Given the description of an element on the screen output the (x, y) to click on. 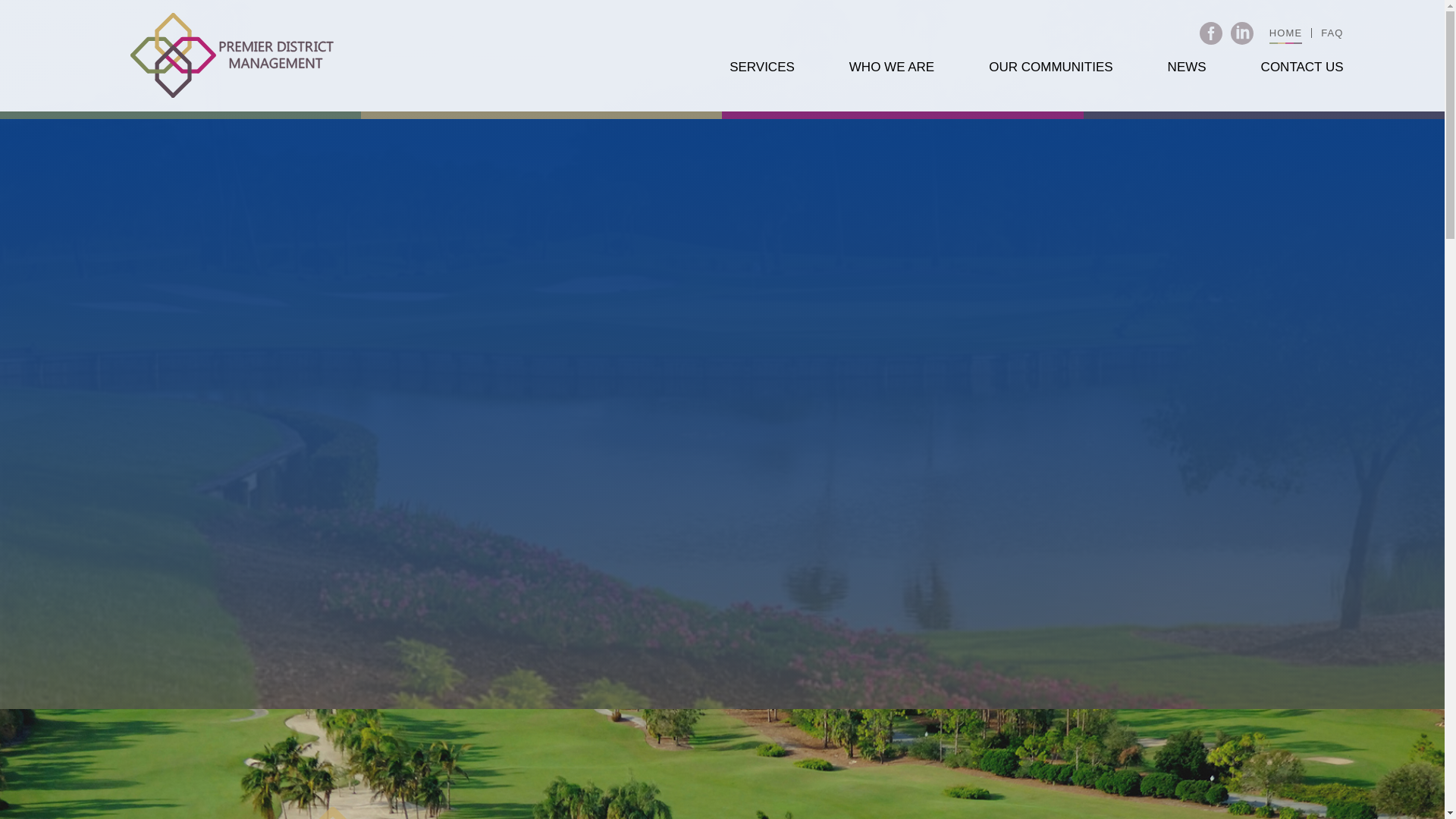
CONTACT US (1301, 67)
OUR COMMUNITIES (1050, 67)
WHO WE ARE (891, 67)
Facebook profile (1211, 33)
LinkedIn profile (1241, 33)
FAQ (1331, 32)
Premier District Management. Return Home (232, 55)
SERVICES (761, 67)
HOME (1285, 32)
NEWS (1187, 67)
